Given the description of an element on the screen output the (x, y) to click on. 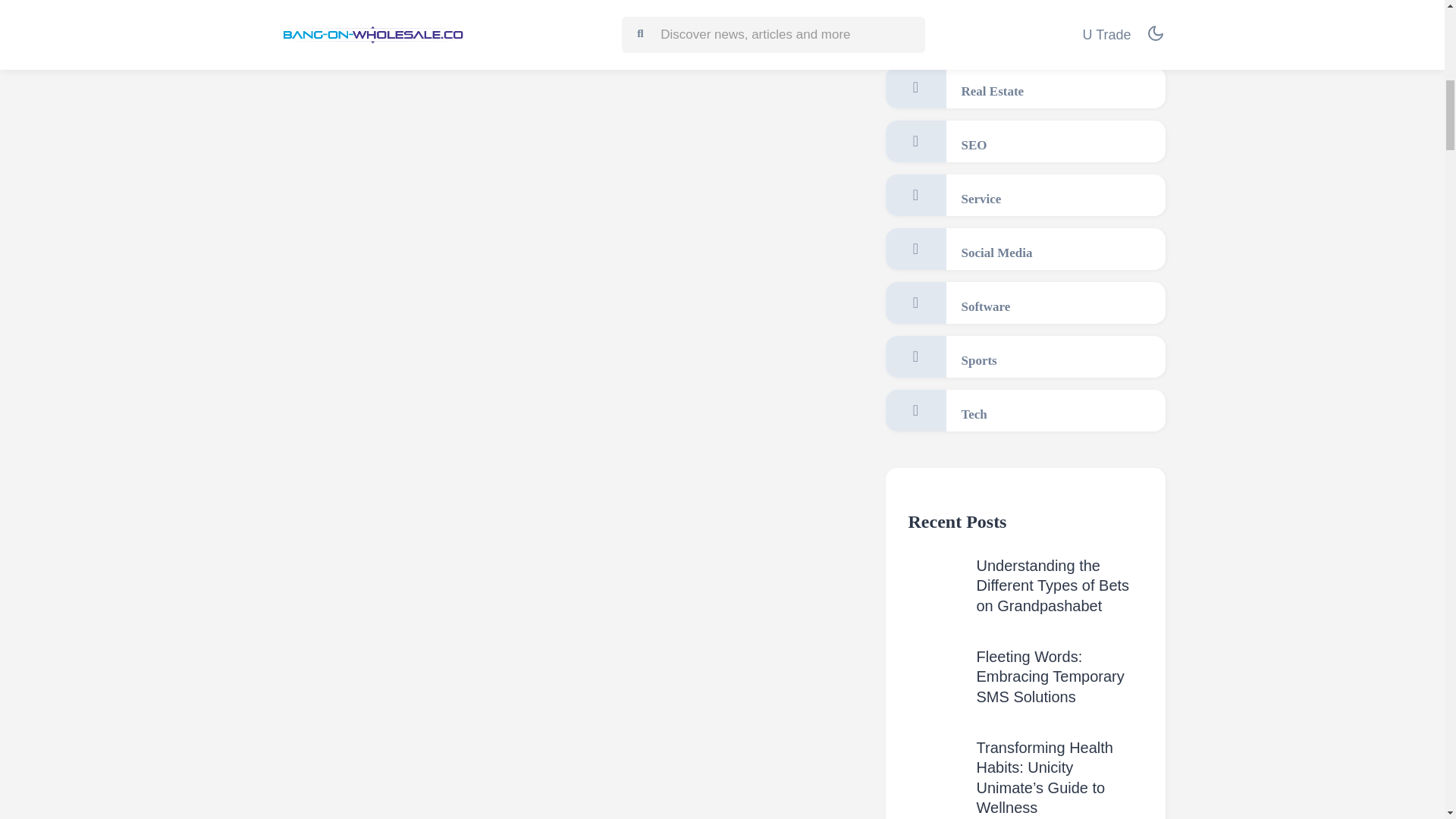
Fleeting Words: Embracing Temporary SMS Solutions (1050, 676)
SEO (1025, 141)
Sports (1025, 356)
Social Media (1025, 249)
Understanding the Different Types of Bets on Grandpashabet (1052, 585)
Service (1025, 195)
Tech (1025, 410)
Real Estate (1025, 87)
Previous Post (363, 8)
Medical (1025, 33)
Software (1025, 302)
Next Post (791, 8)
